Given the description of an element on the screen output the (x, y) to click on. 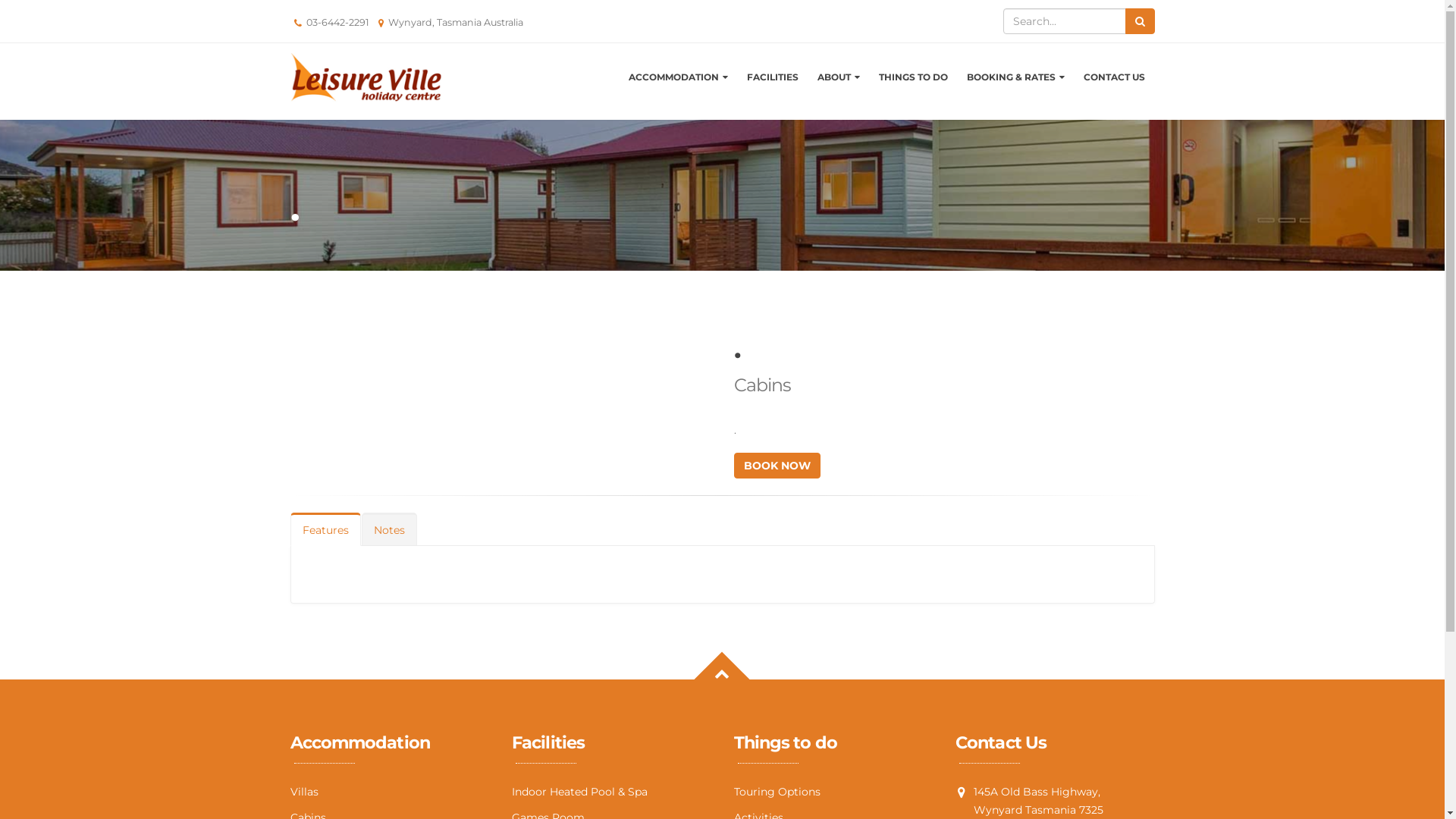
THINGS TO DO Element type: text (913, 76)
Villas Element type: text (303, 791)
Touring Options Element type: text (777, 791)
Features Element type: text (324, 529)
FACILITIES Element type: text (772, 76)
CONTACT US Element type: text (1113, 76)
BOOK NOW Element type: text (777, 465)
ABOUT Element type: text (838, 76)
Notes Element type: text (388, 528)
BOOKING & RATES Element type: text (1014, 76)
Indoor Heated Pool & Spa Element type: text (579, 791)
ACCOMMODATION Element type: text (677, 76)
